Given the description of an element on the screen output the (x, y) to click on. 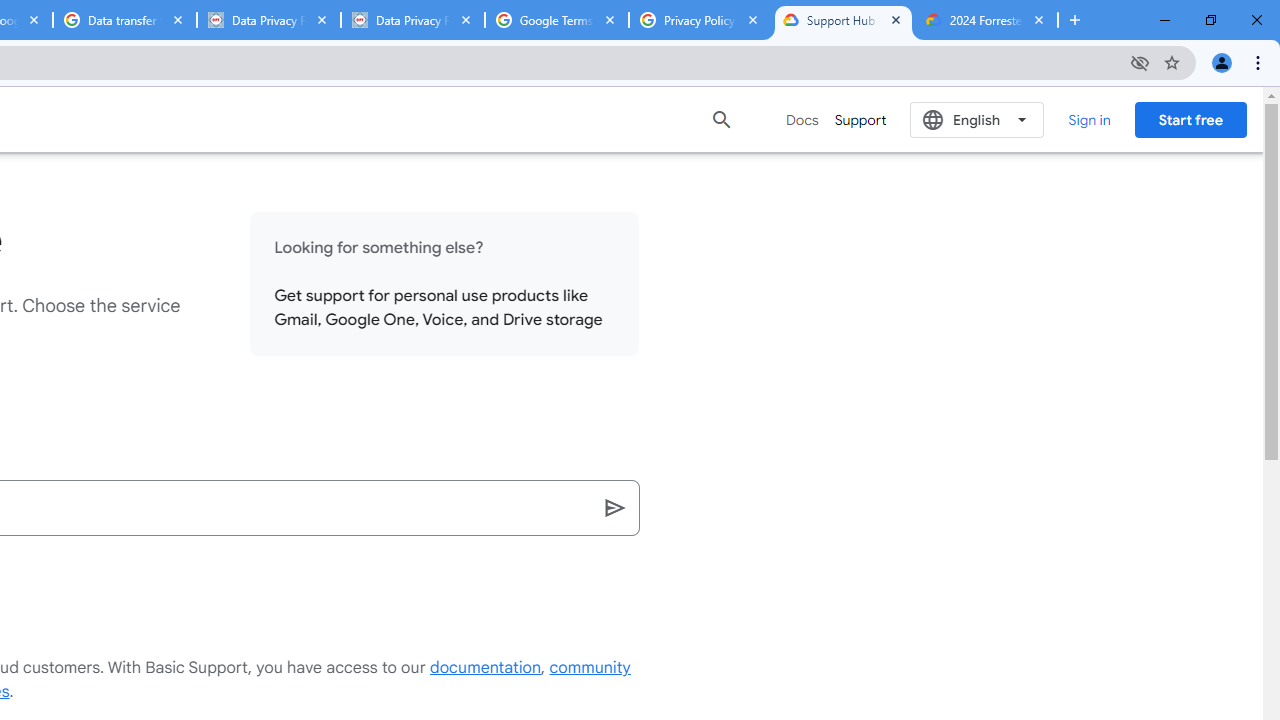
Bookmark this tab (1171, 62)
Close (1039, 19)
Third-party cookies blocked (1139, 62)
Docs (802, 119)
Sign in (1088, 119)
Support (860, 119)
Start free (1190, 119)
You (1221, 62)
Data Privacy Framework (268, 20)
